Given the description of an element on the screen output the (x, y) to click on. 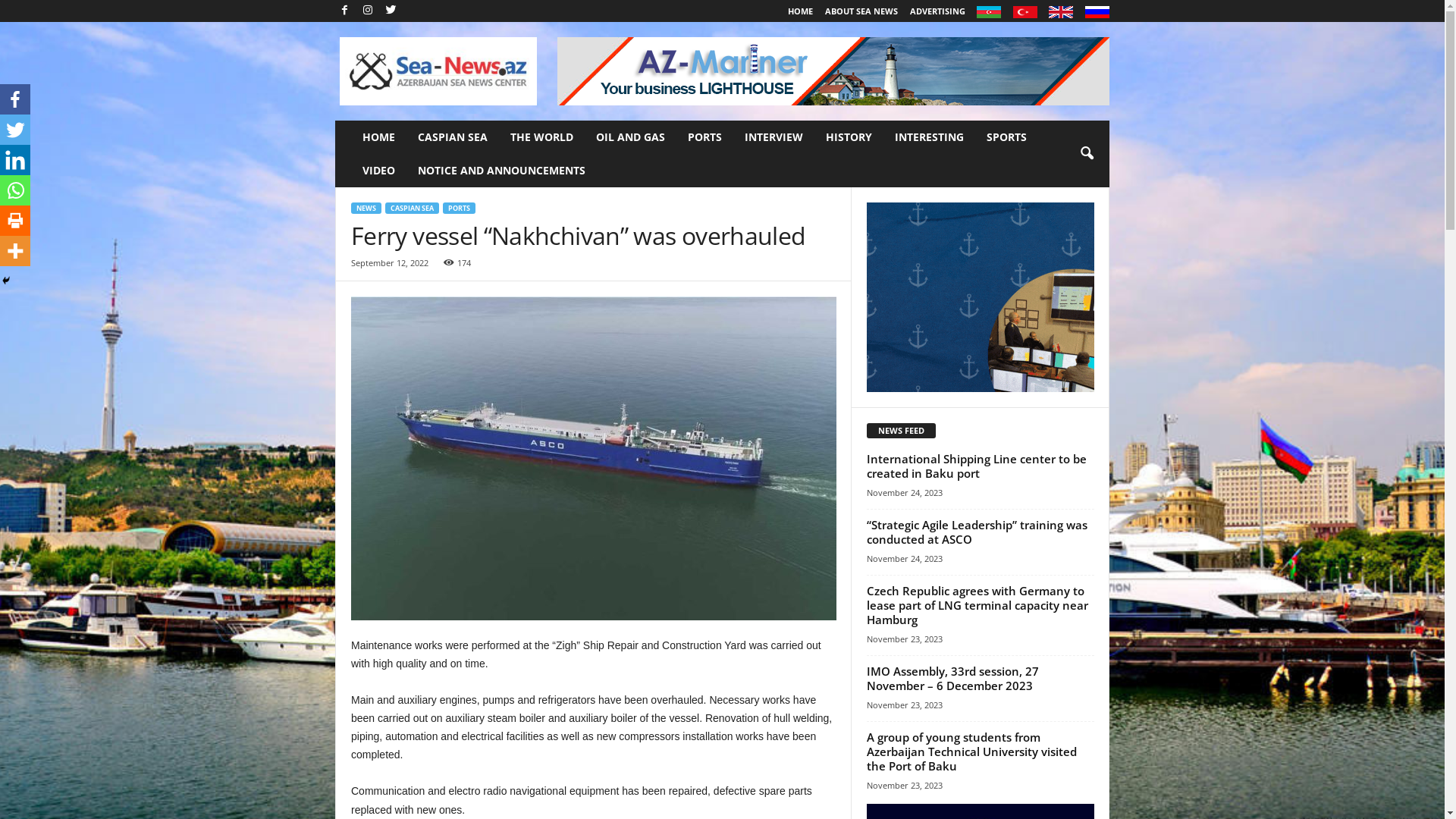
VIDEO Element type: text (378, 170)
Instagram Element type: hover (367, 10)
HOME Element type: text (378, 136)
HOME Element type: text (799, 10)
CASPIAN SEA Element type: text (452, 136)
OIL AND GAS Element type: text (630, 136)
INTERVIEW Element type: text (773, 136)
NOTICE AND ANNOUNCEMENTS Element type: text (501, 170)
SEA-NEWS Element type: text (438, 71)
INTERESTING Element type: text (929, 136)
More Element type: hover (15, 250)
Linkedin Element type: hover (15, 159)
Facebook Element type: hover (344, 10)
THE WORLD Element type: text (541, 136)
NEWS Element type: text (366, 207)
HISTORY Element type: text (848, 136)
Facebook Element type: hover (15, 99)
Twitter Element type: hover (15, 129)
Hide Element type: hover (6, 280)
Print Element type: hover (15, 220)
CASPIAN SEA Element type: text (412, 207)
PORTS Element type: text (704, 136)
Whatsapp Element type: hover (15, 190)
166271105568253naxvangmi-brsi Element type: hover (593, 458)
Twitter Element type: hover (390, 10)
PORTS Element type: text (458, 207)
ADVERTISING Element type: text (937, 10)
ABOUT SEA NEWS Element type: text (861, 10)
SPORTS Element type: text (1006, 136)
